Given the description of an element on the screen output the (x, y) to click on. 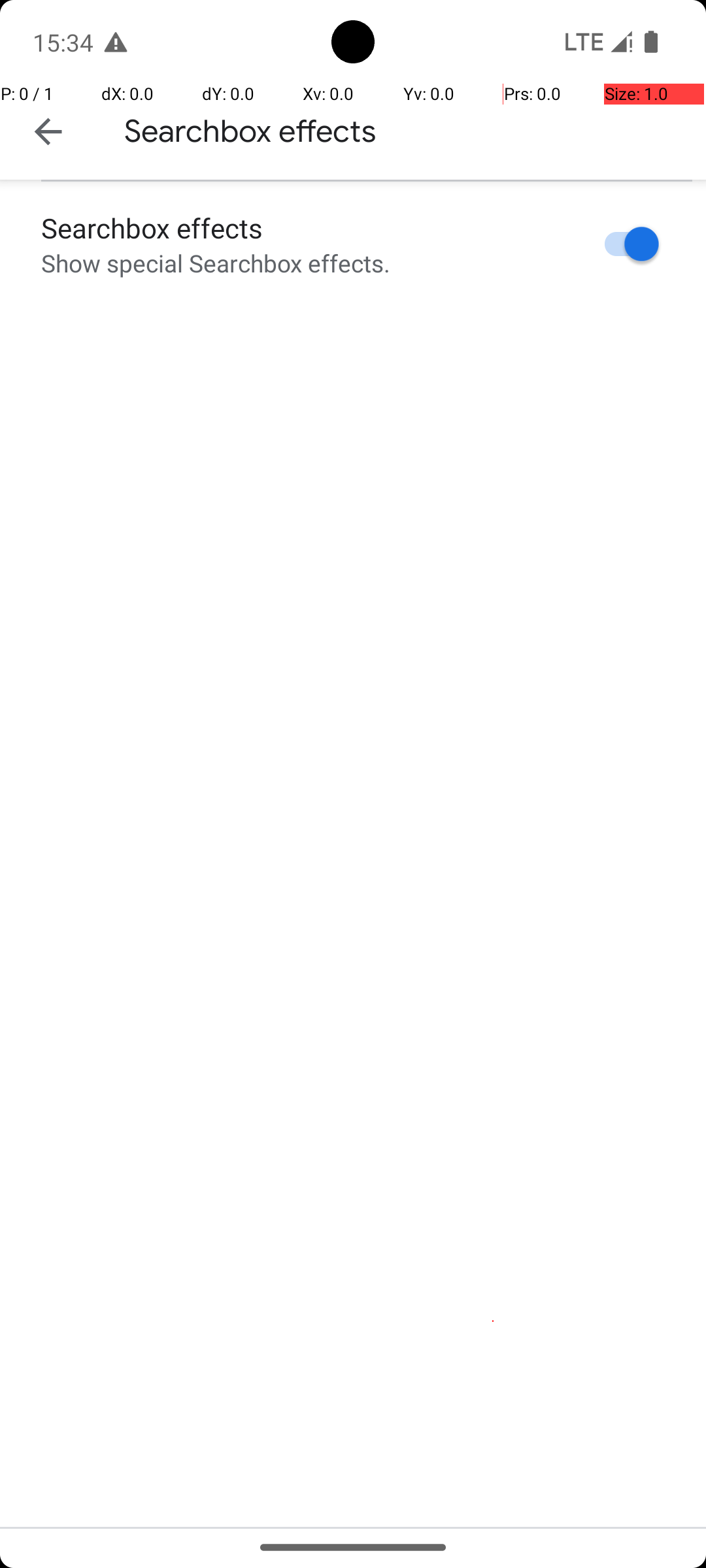
Navigate up Element type: android.widget.ImageButton (48, 131)
Searchbox effects Element type: android.widget.TextView (249, 130)
Show special Searchbox effects. Element type: android.widget.TextView (215, 262)
